Given the description of an element on the screen output the (x, y) to click on. 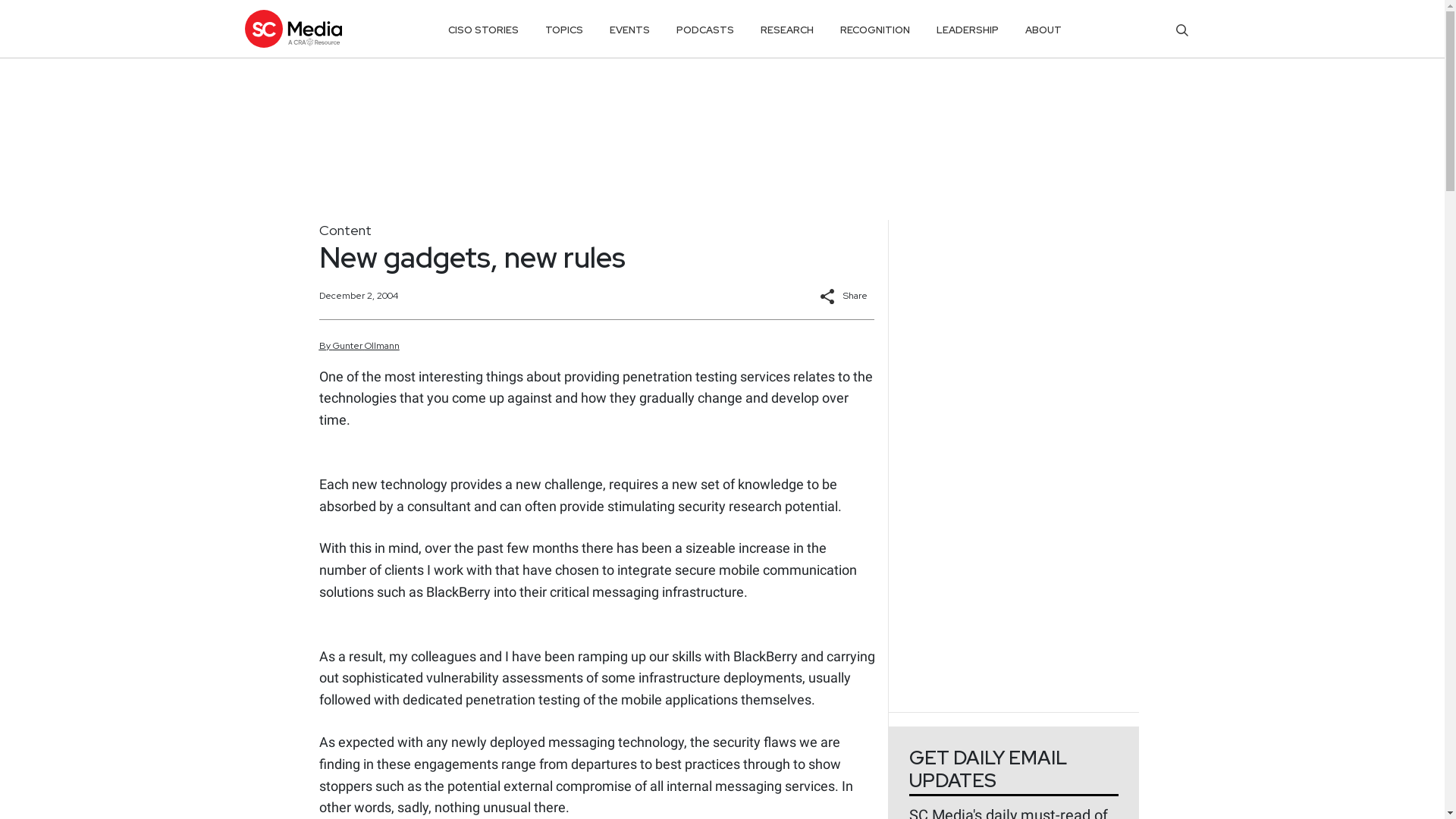
PODCASTS (705, 30)
RECOGNITION (875, 30)
SC Media (292, 27)
CISO STORIES (483, 30)
TOPICS (563, 30)
Content (344, 230)
By Gunter Ollmann (358, 345)
EVENTS (629, 30)
ABOUT (1043, 30)
LEADERSHIP (967, 30)
RESEARCH (786, 30)
